Given the description of an element on the screen output the (x, y) to click on. 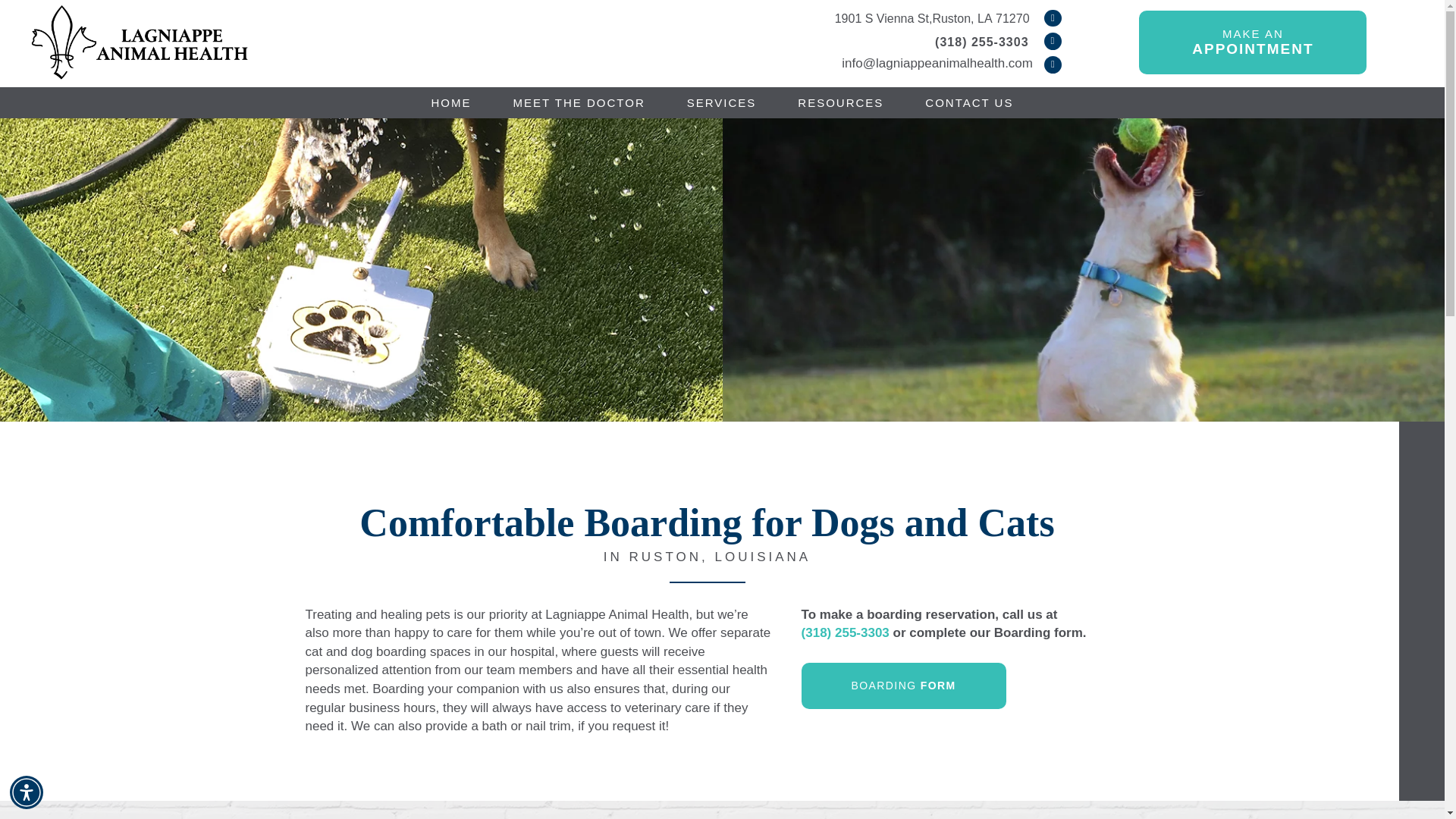
MEET THE DOCTOR (579, 101)
RESOURCES (840, 101)
CONTACT US (968, 101)
SERVICES (721, 101)
Lagniappe Logo Horizontal (140, 43)
BOARDING FORM (904, 685)
Accessibility Menu (26, 792)
1901 S Vienna St, Ruston, LA 71270 (931, 17)
HOME (1252, 42)
